Given the description of an element on the screen output the (x, y) to click on. 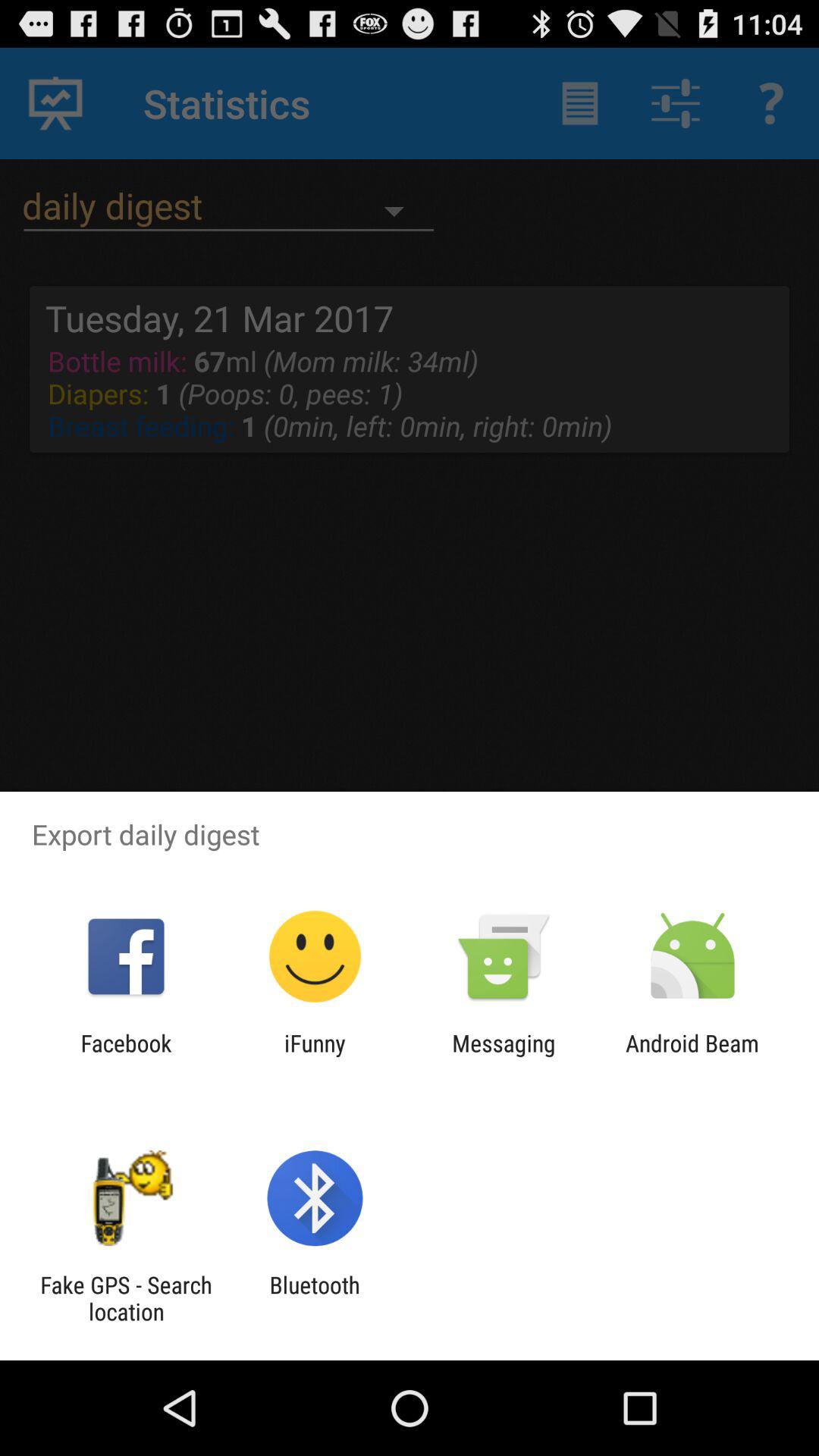
select fake gps search icon (125, 1298)
